Given the description of an element on the screen output the (x, y) to click on. 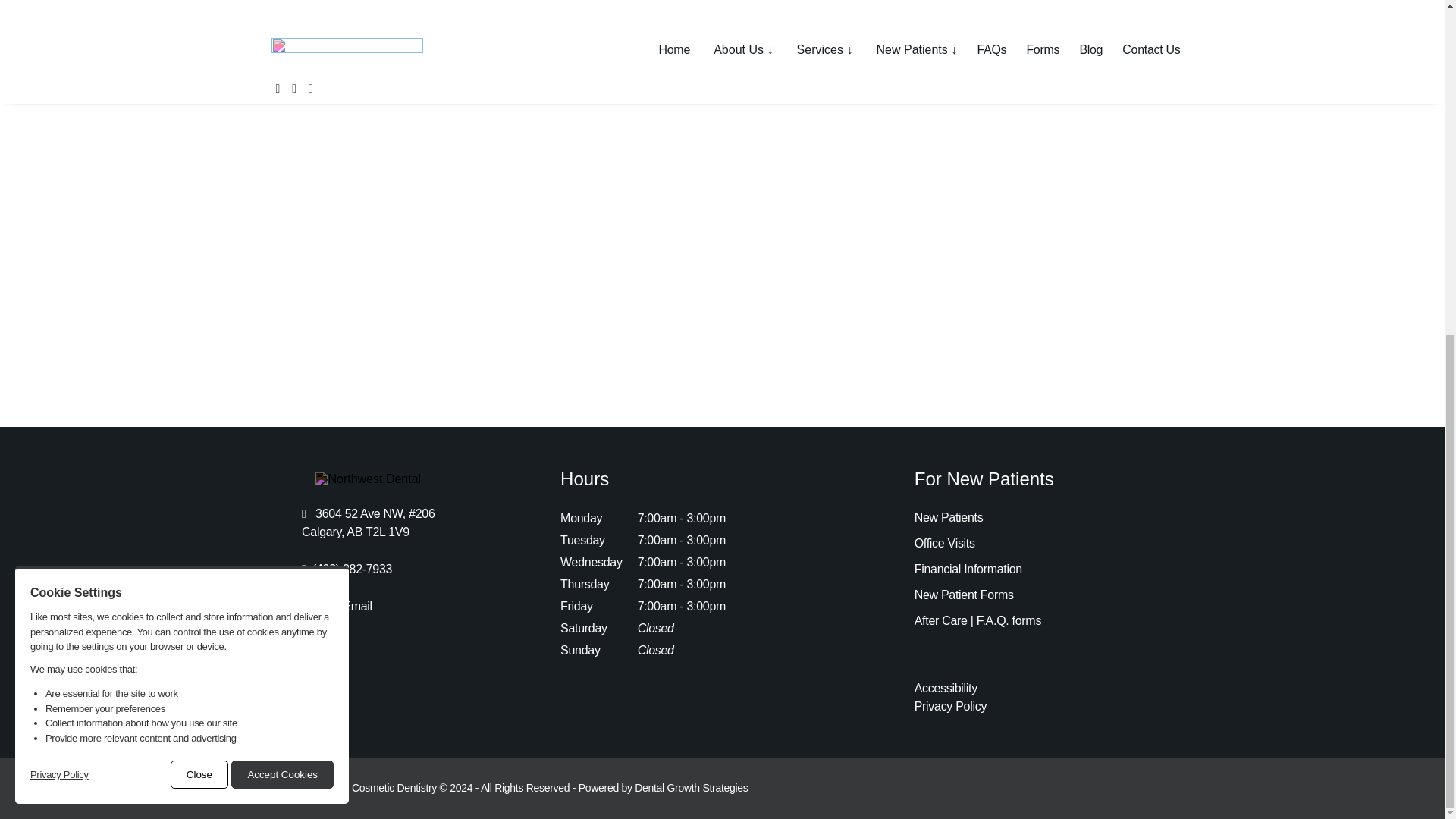
Close (199, 213)
Privacy Policy (59, 214)
Privacy Policy (59, 214)
Accept Cookies (282, 213)
